Given the description of an element on the screen output the (x, y) to click on. 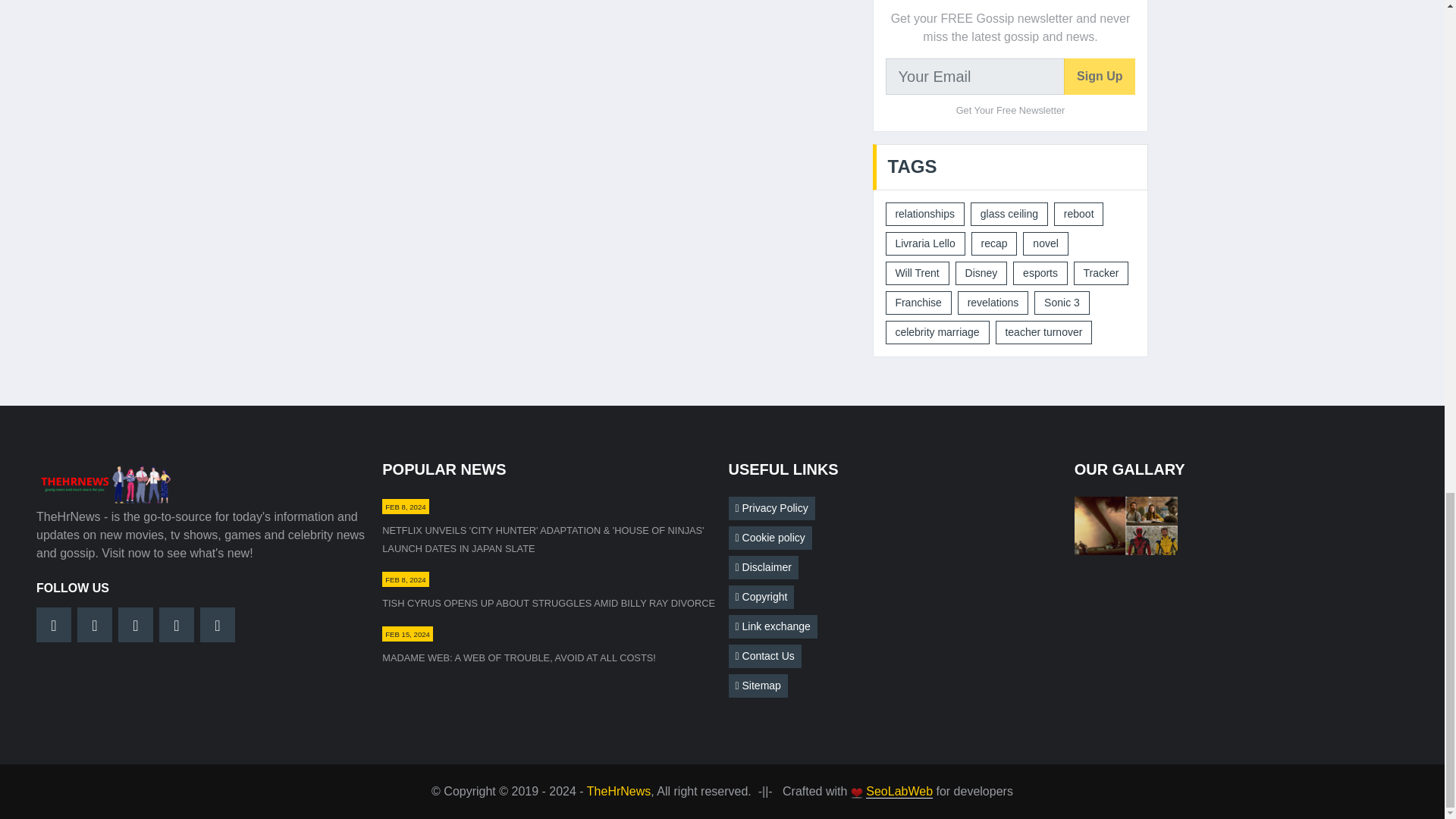
 relationships  (924, 214)
 Livraria Lello  (925, 243)
 Disney  (981, 273)
Tish Cyrus Opens Up About Struggles Amid Billy Ray Divorce (547, 603)
 recap  (994, 243)
Madame Web: A Web of Trouble, Avoid at All Costs! (518, 657)
 glass ceiling  (1009, 214)
Sign Up (1099, 76)
 reboot  (1078, 214)
 Franchise  (918, 302)
 esports  (1040, 273)
 Will Trent  (917, 273)
 Tracker  (1101, 273)
 novel  (1045, 243)
